Given the description of an element on the screen output the (x, y) to click on. 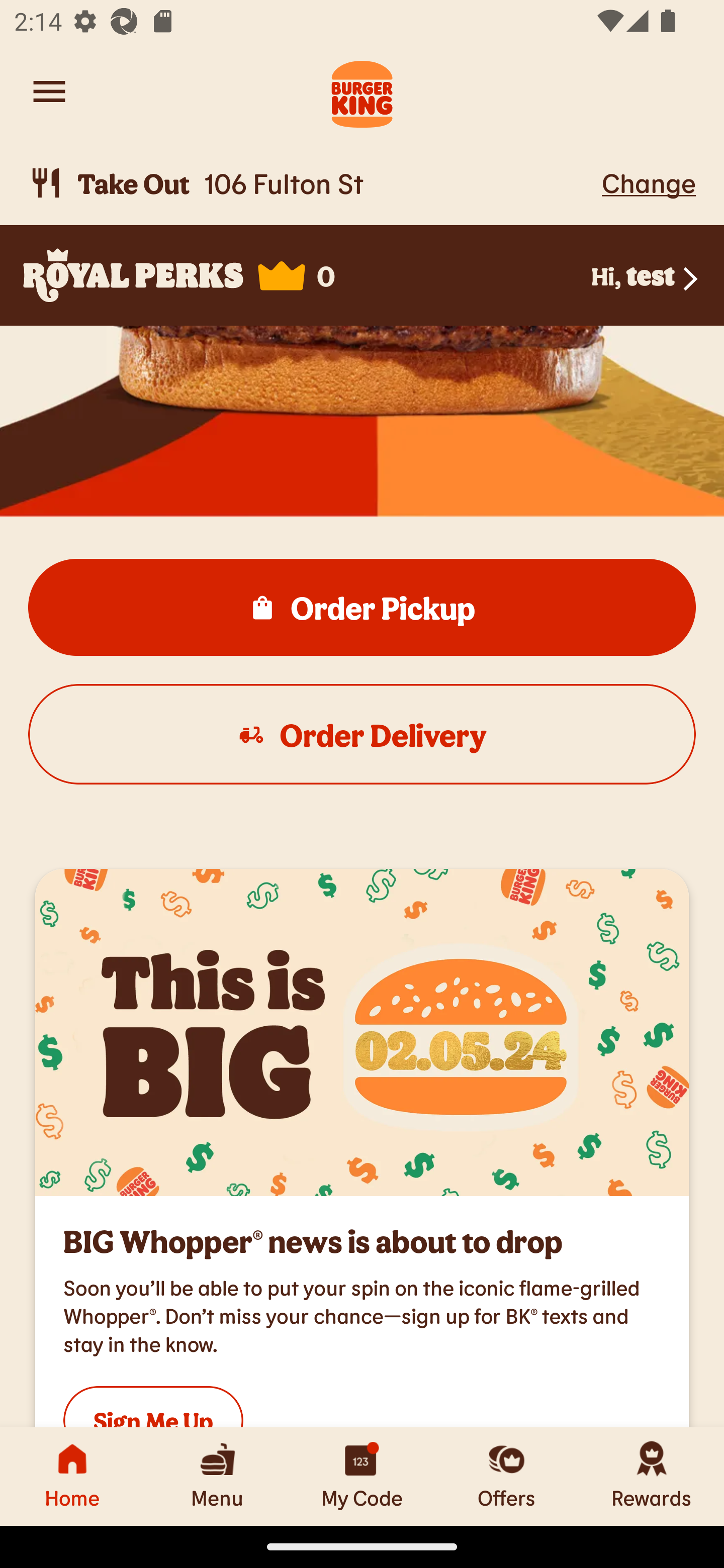
Burger King Logo. Navigate to Home (362, 91)
Navigate to account menu  (49, 91)
Take Out, 106 Fulton St  Take Out 106 Fulton St (311, 183)
Change (648, 182)
, Order Pickup  Order Pickup (361, 606)
, Order Delivery  Order Delivery (361, 733)
MDW Teaser Auth App (361, 1032)
Home (72, 1475)
Menu (216, 1475)
My Code (361, 1475)
Offers (506, 1475)
Rewards (651, 1475)
